Given the description of an element on the screen output the (x, y) to click on. 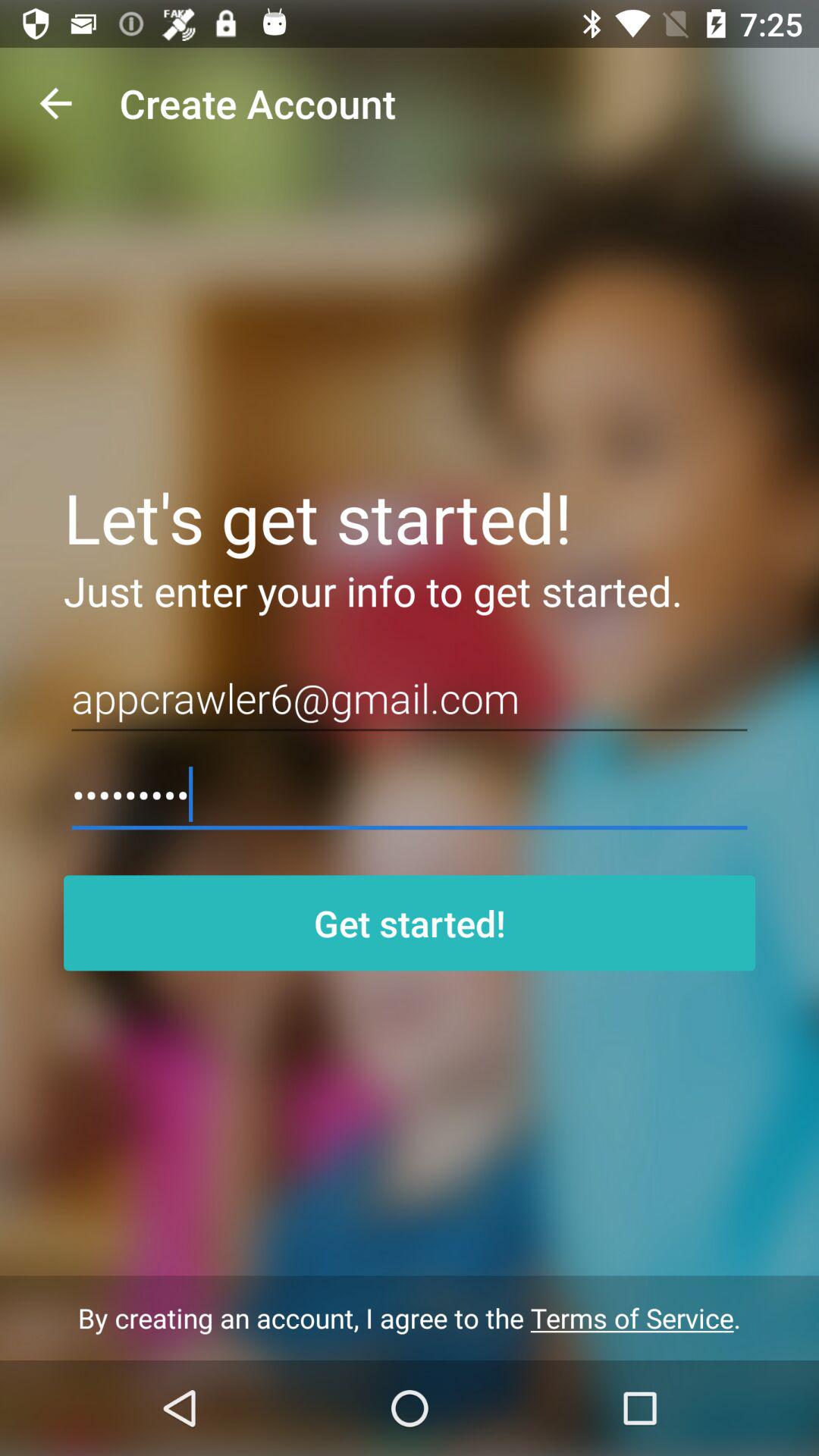
jump until appcrawler6@gmail.com icon (409, 698)
